Given the description of an element on the screen output the (x, y) to click on. 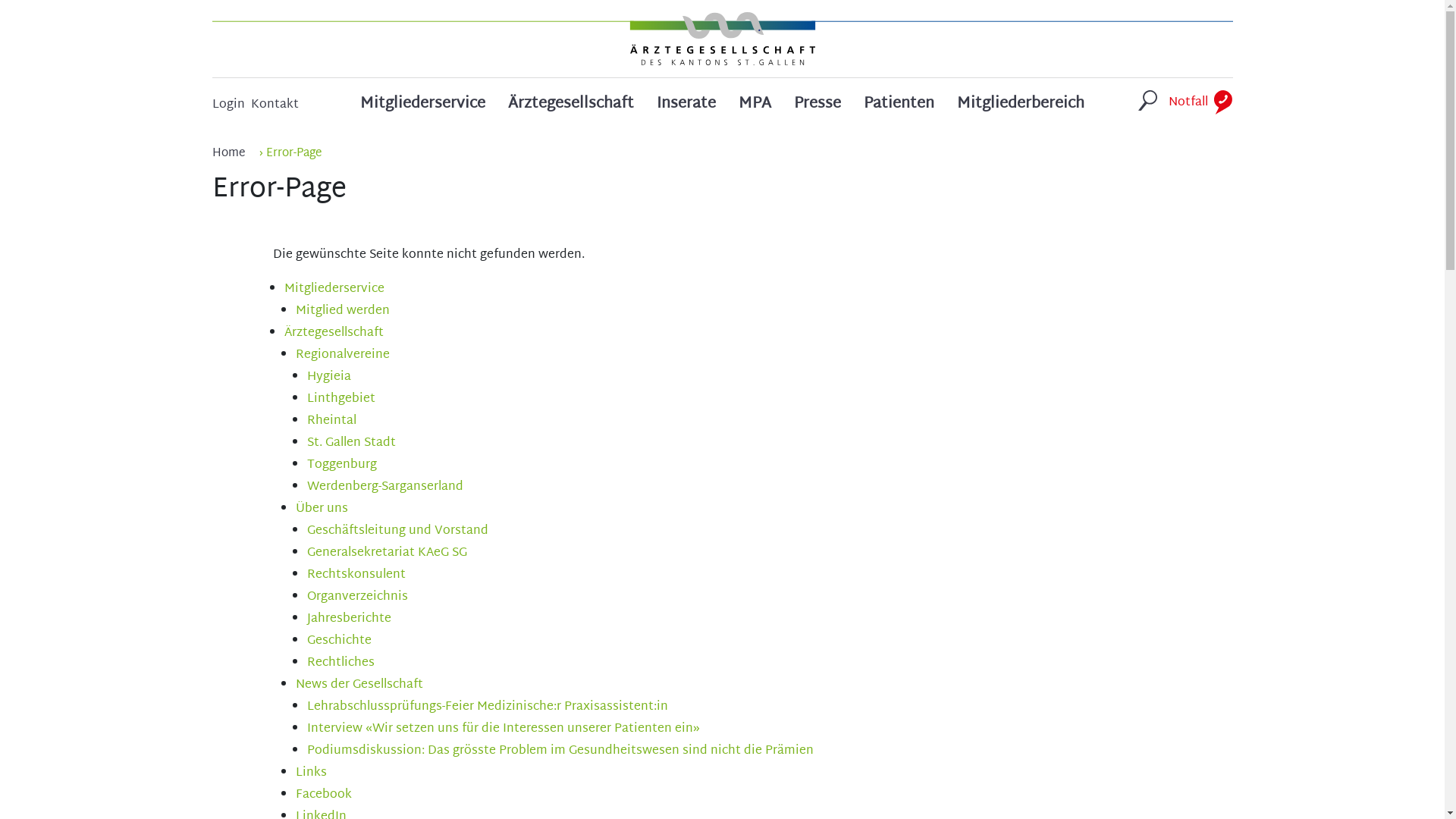
Organverzeichnis Element type: text (356, 597)
Home Element type: text (228, 153)
Rechtskonsulent Element type: text (355, 575)
St. Gallen Stadt Element type: text (350, 443)
Presse Element type: text (816, 109)
Login Element type: text (228, 111)
Rheintal Element type: text (330, 421)
Patienten Element type: text (898, 109)
Mitglied werden Element type: text (342, 311)
Links Element type: text (310, 773)
Mitgliederservice Element type: text (333, 289)
Hygieia Element type: text (328, 377)
Regionalvereine Element type: text (342, 355)
Linthgebiet Element type: text (340, 399)
MPA Element type: text (754, 109)
Mitgliederbereich Element type: text (1020, 109)
Facebook Element type: text (323, 795)
Jahresberichte Element type: text (348, 619)
Kontakt Element type: text (274, 111)
News der Gesellschaft Element type: text (359, 685)
Notfall Element type: text (1200, 108)
Mitgliederservice Element type: text (422, 109)
Inserate Element type: text (685, 109)
Toggenburg Element type: text (341, 465)
Rechtliches Element type: text (339, 663)
Generalsekretariat KAeG SG Element type: text (386, 553)
Werdenberg-Sarganserland Element type: text (384, 487)
Geschichte Element type: text (338, 641)
